Given the description of an element on the screen output the (x, y) to click on. 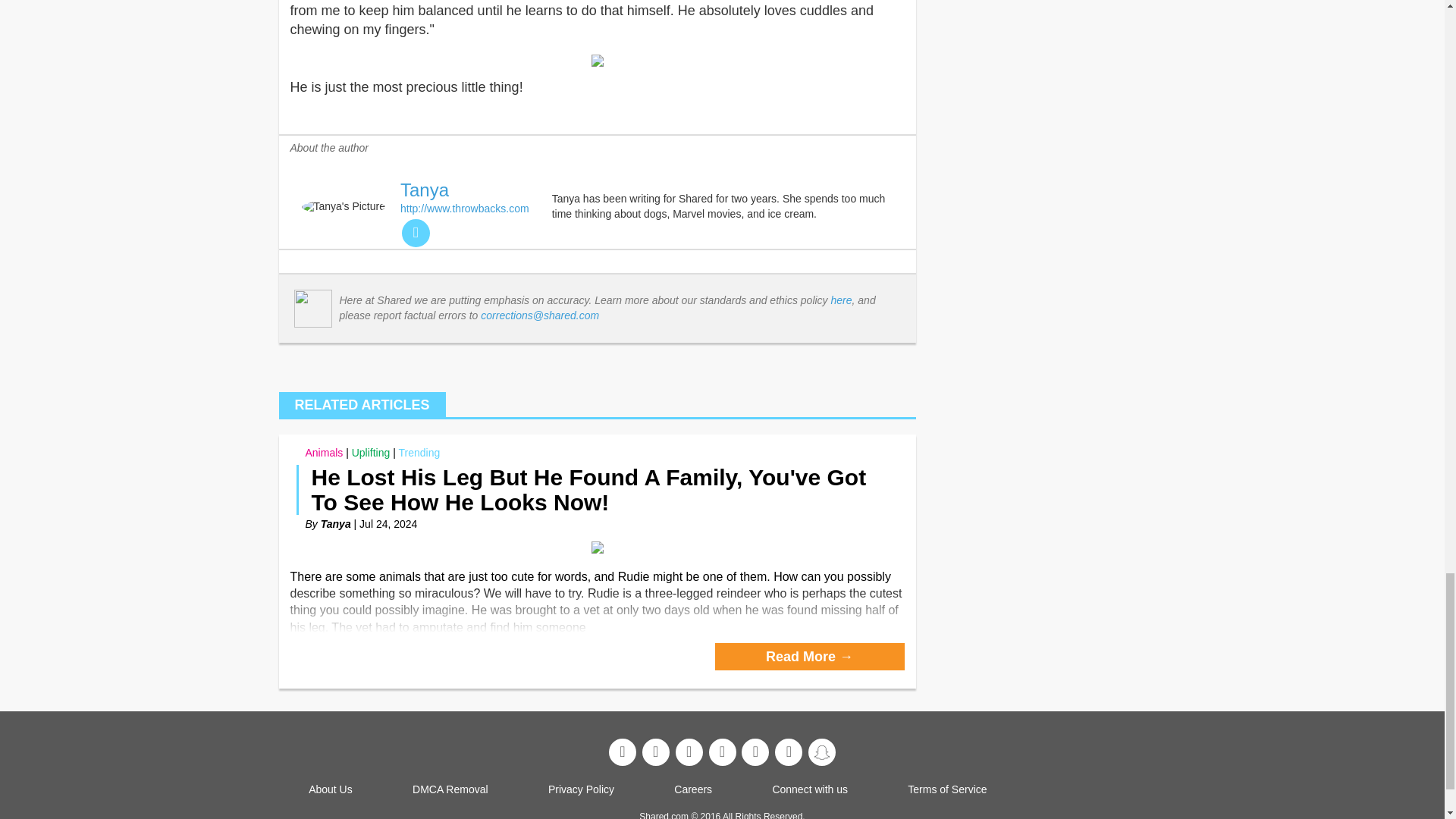
twitter (415, 233)
Tanya's Profile (335, 523)
Tanya (424, 189)
here (841, 300)
